Given the description of an element on the screen output the (x, y) to click on. 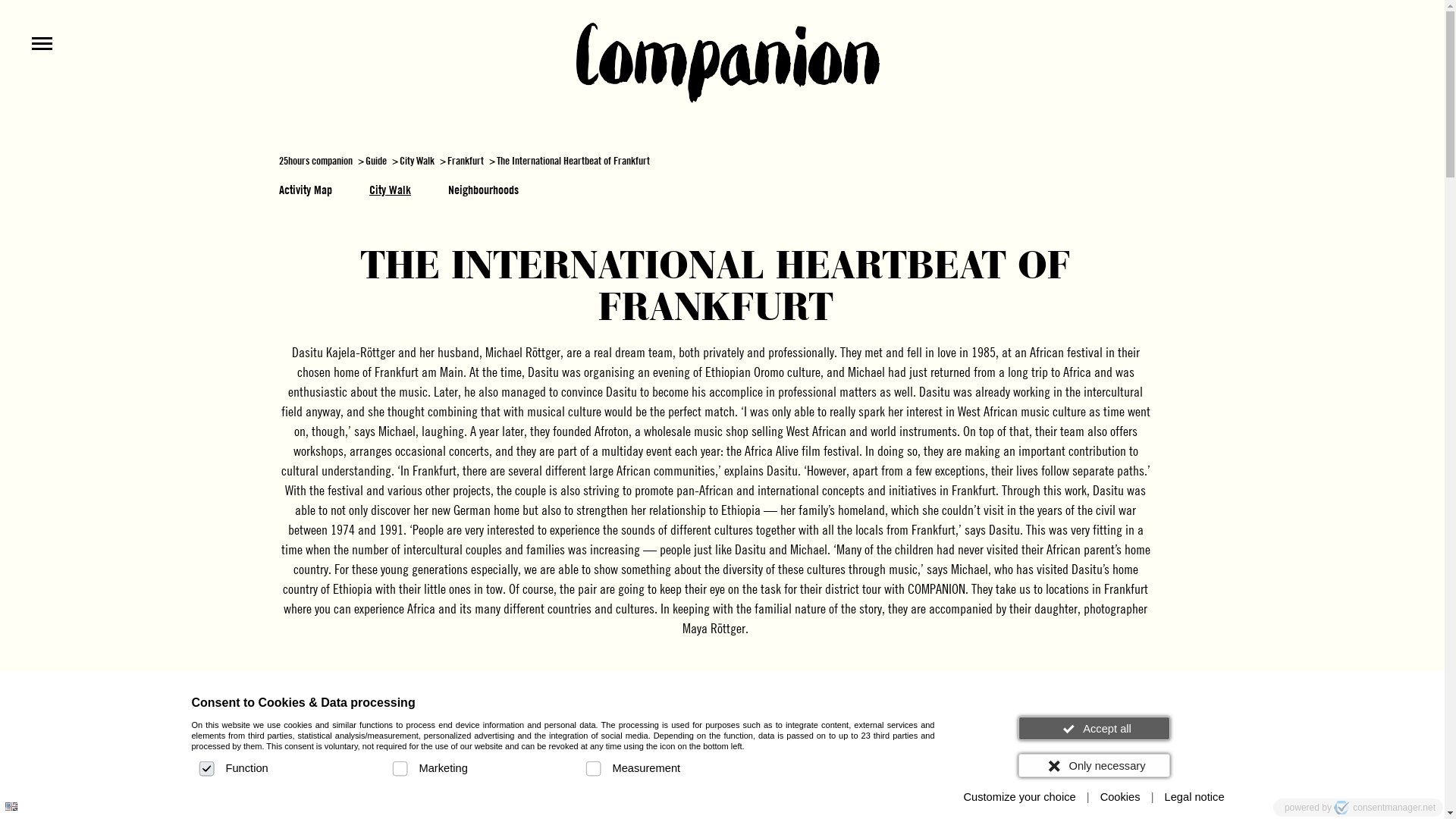
Only necessary Element type: text (1093, 765)
City Walk Element type: text (416, 159)
Language: en Element type: hover (11, 806)
Activity Map Element type: text (305, 189)
Privacy settings Element type: hover (17, 801)
Customize your choice Element type: text (1018, 797)
Guide Element type: text (375, 159)
Neighbourhoods Element type: text (483, 189)
The International Heartbeat of Frankfurt Element type: text (572, 159)
Accept all Element type: text (1093, 728)
25hours companion Element type: text (315, 159)
City Walk Element type: text (390, 189)
consentmanager.net Element type: text (1384, 807)
Legal notice Element type: text (1194, 797)
Frankfurt Element type: text (465, 159)
Cookies Element type: text (1120, 797)
Language: en Element type: hover (11, 806)
